Given the description of an element on the screen output the (x, y) to click on. 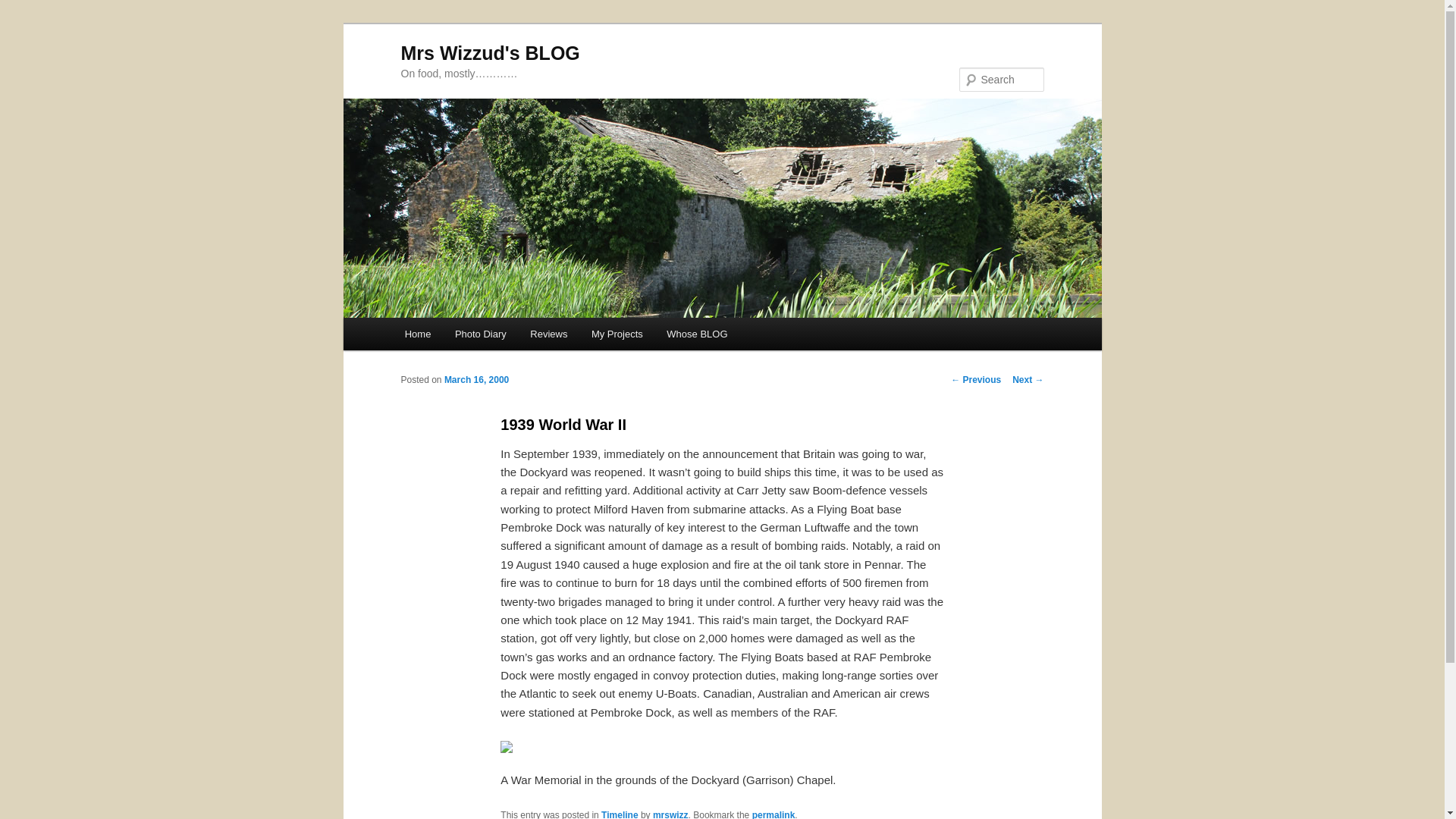
Home (417, 333)
Reviews (548, 333)
March 16, 2000 (476, 379)
3:38 pm (476, 379)
Whose BLOG (697, 333)
World War II (506, 746)
mrswizz (670, 814)
Timeline (619, 814)
Permalink to 1939 World War II (773, 814)
